Given the description of an element on the screen output the (x, y) to click on. 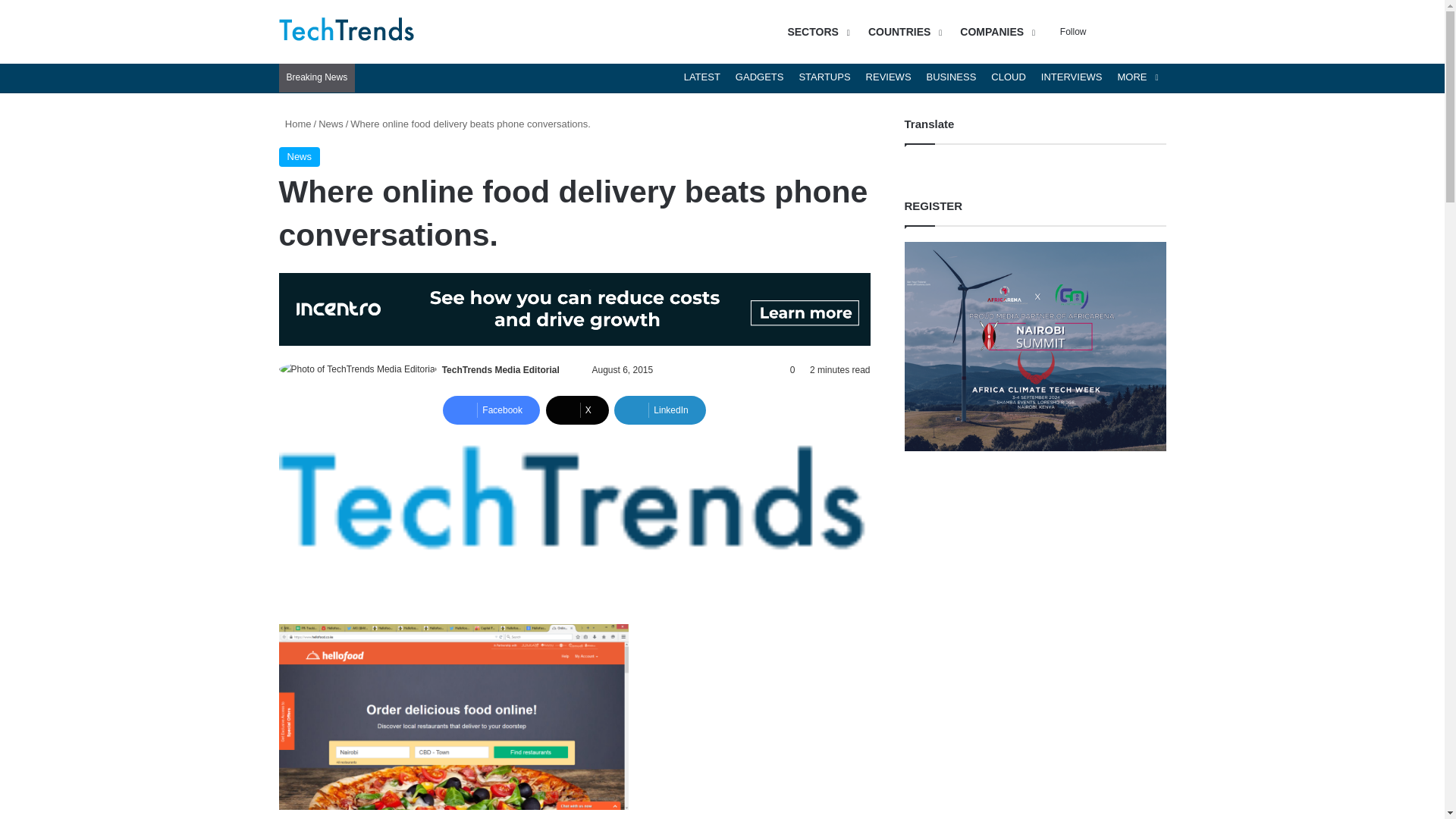
Facebook (491, 410)
COUNTRIES (903, 31)
SECTORS (816, 31)
X (577, 410)
TechTrendsKE (346, 31)
COMPANIES (995, 31)
LinkedIn (659, 410)
TechTrends Media Editorial (500, 369)
